Given the description of an element on the screen output the (x, y) to click on. 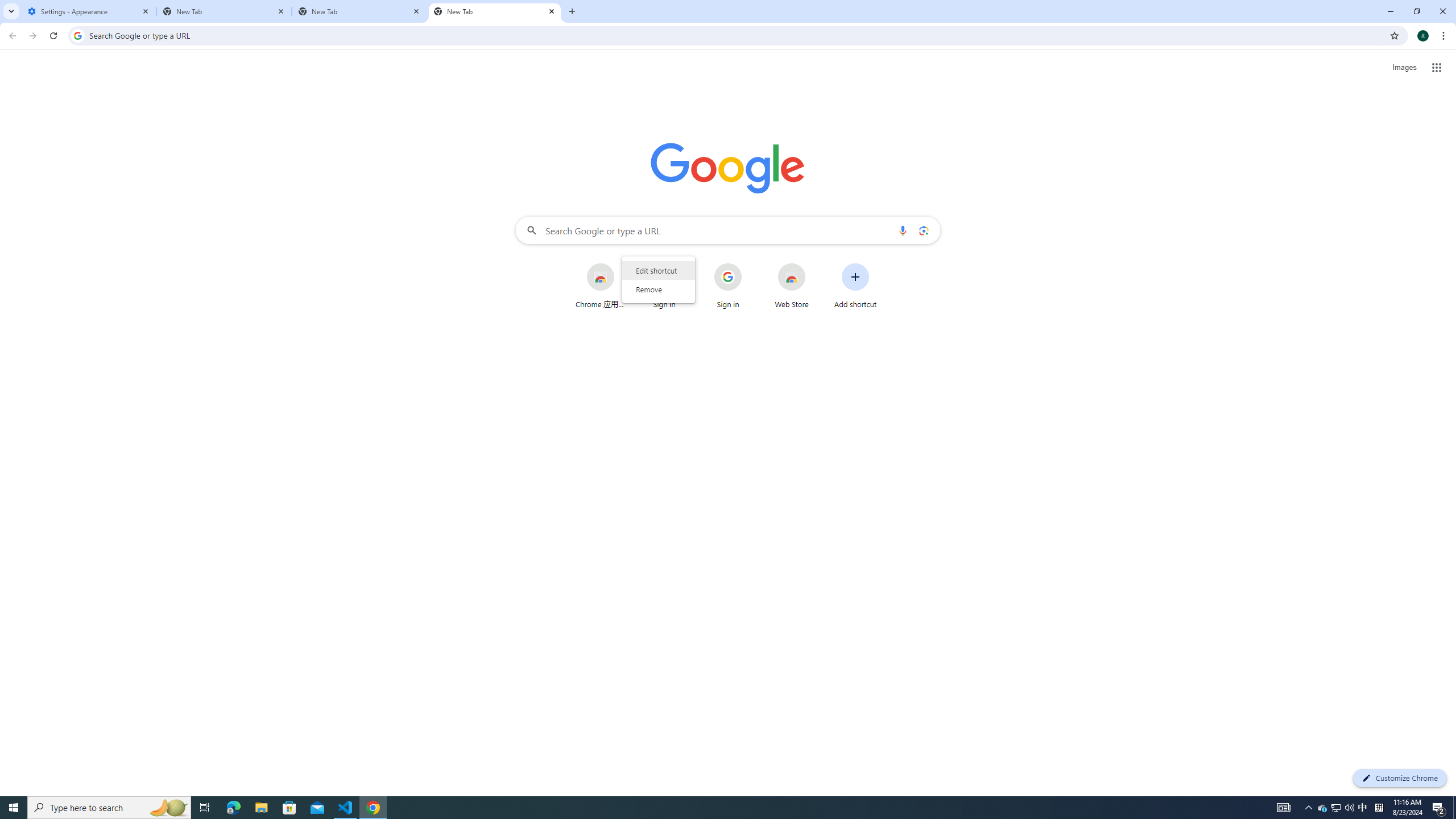
Settings - Appearance (88, 11)
